Given the description of an element on the screen output the (x, y) to click on. 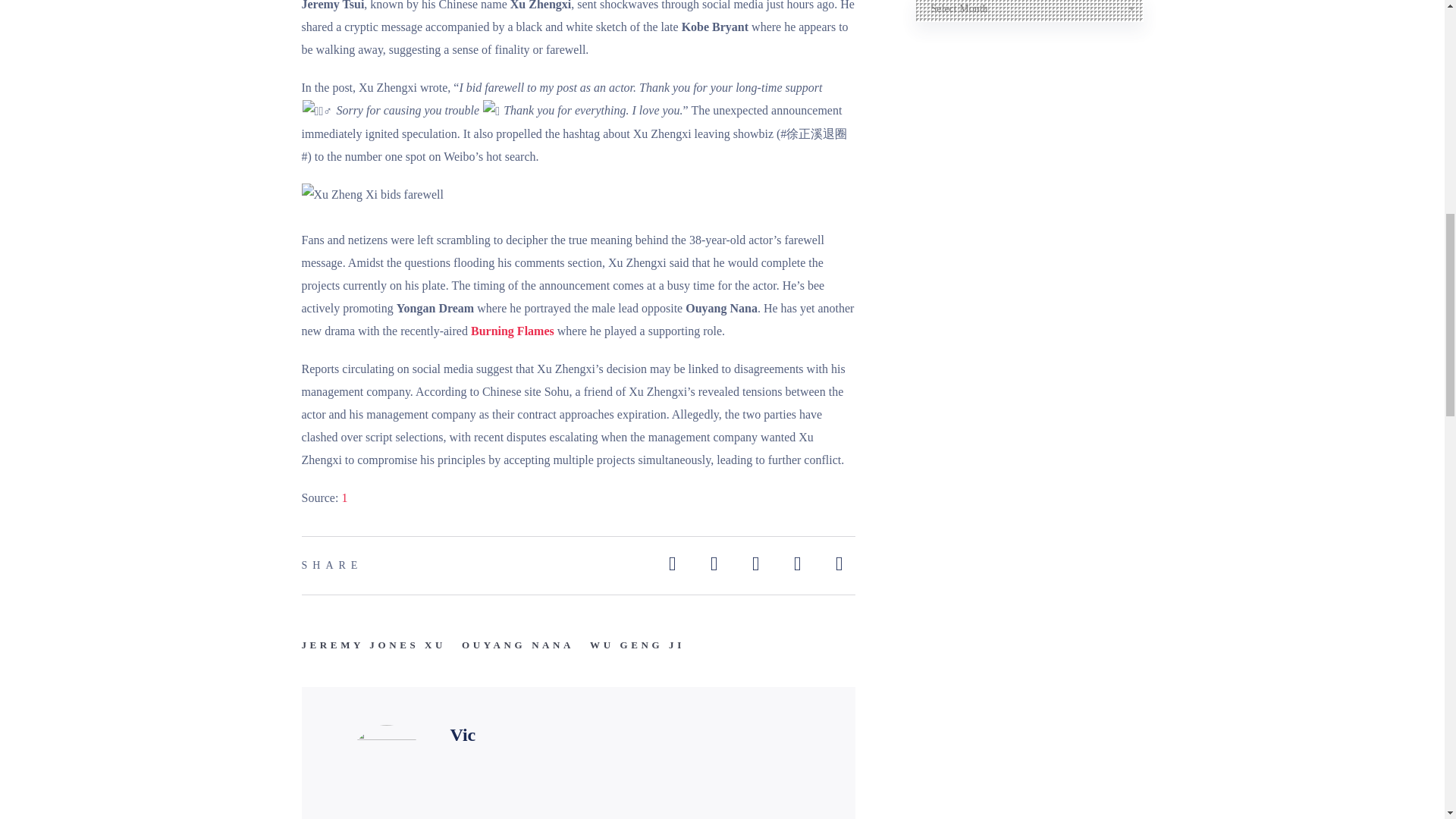
OUYANG NANA (517, 645)
JEREMY JONES XU (373, 645)
WU GENG JI (636, 645)
Vic (462, 734)
Burning Flames (512, 330)
